Given the description of an element on the screen output the (x, y) to click on. 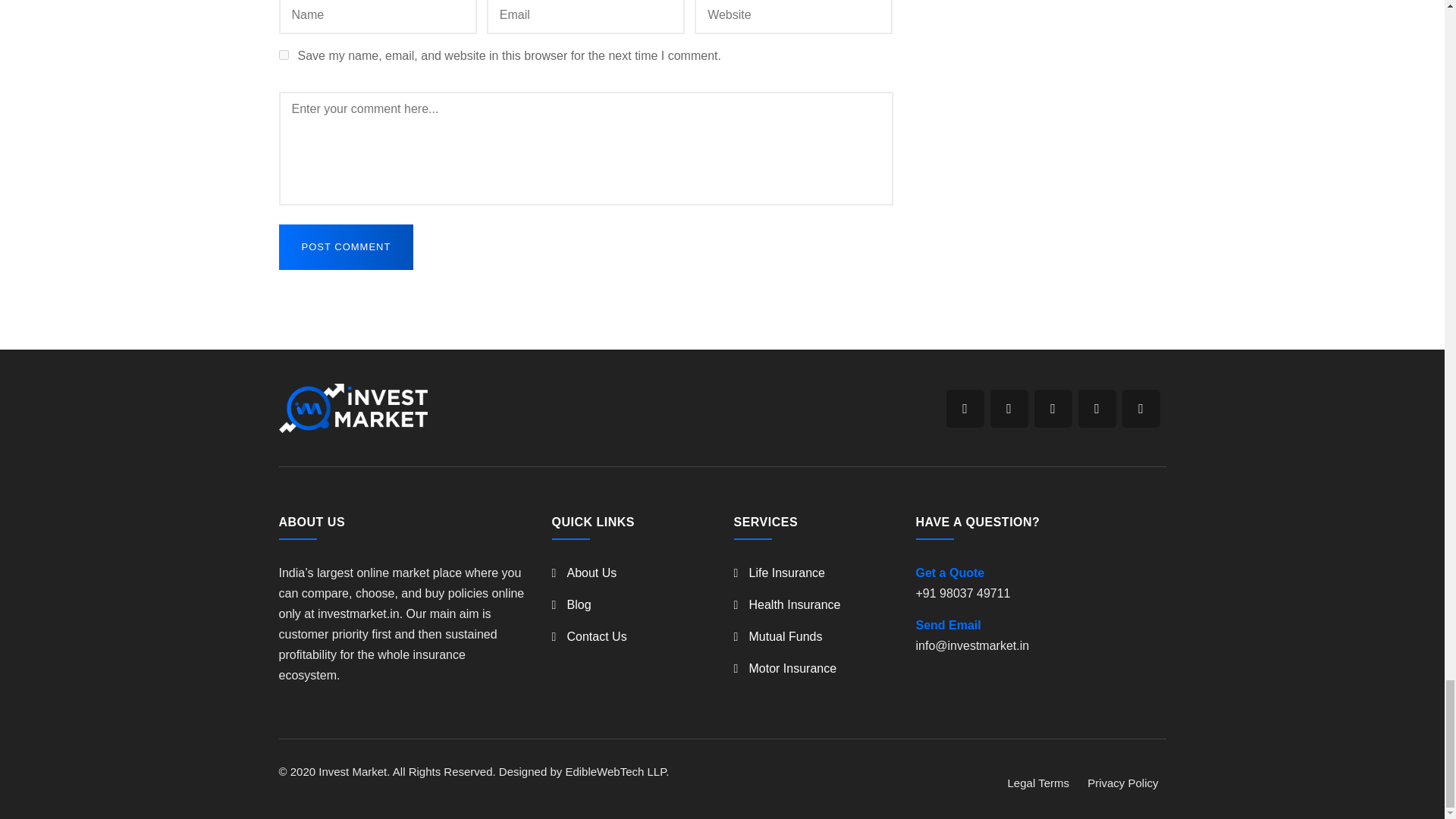
yes (283, 54)
Post Comment (346, 247)
